Given the description of an element on the screen output the (x, y) to click on. 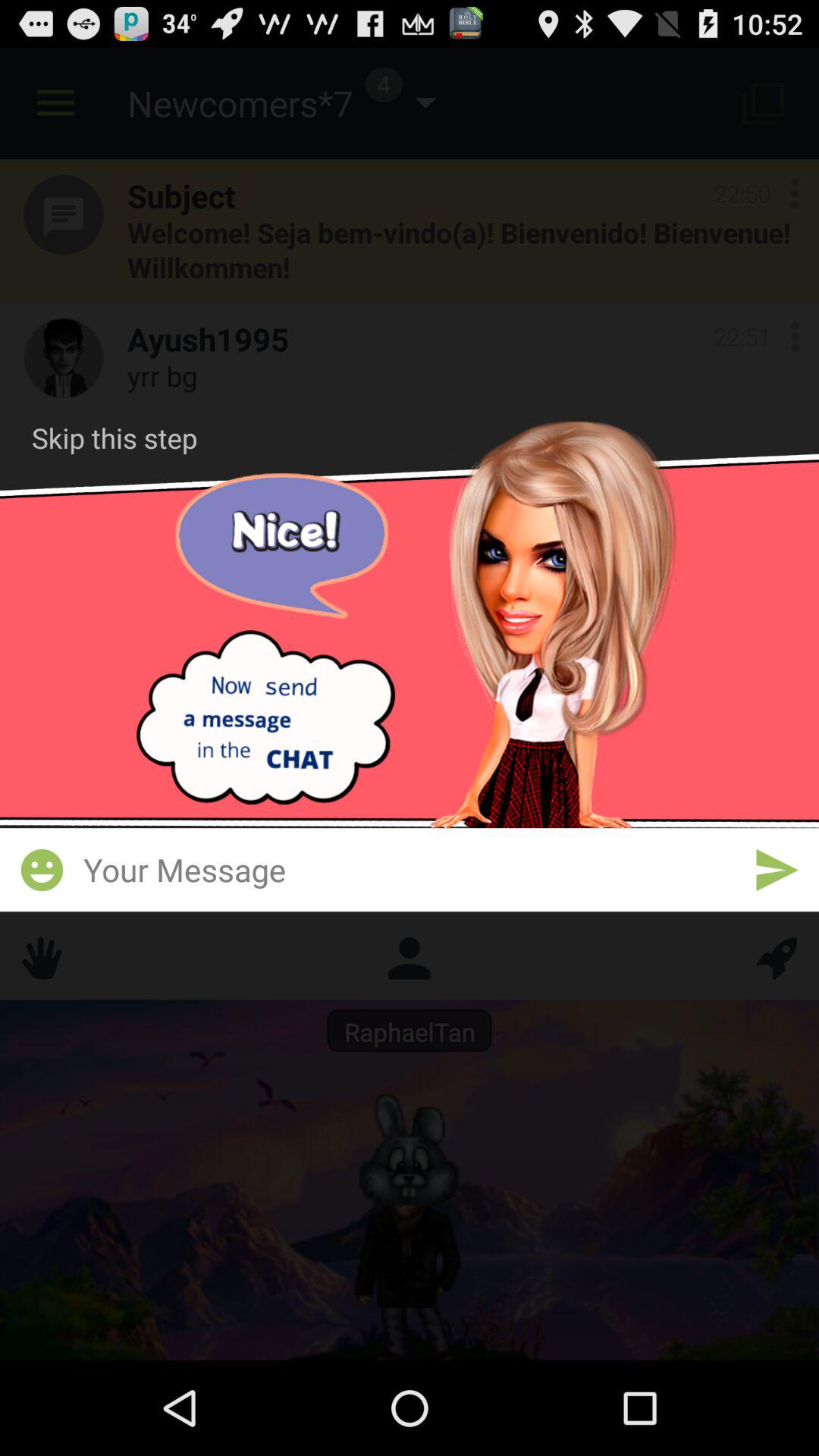
send message (777, 869)
